Given the description of an element on the screen output the (x, y) to click on. 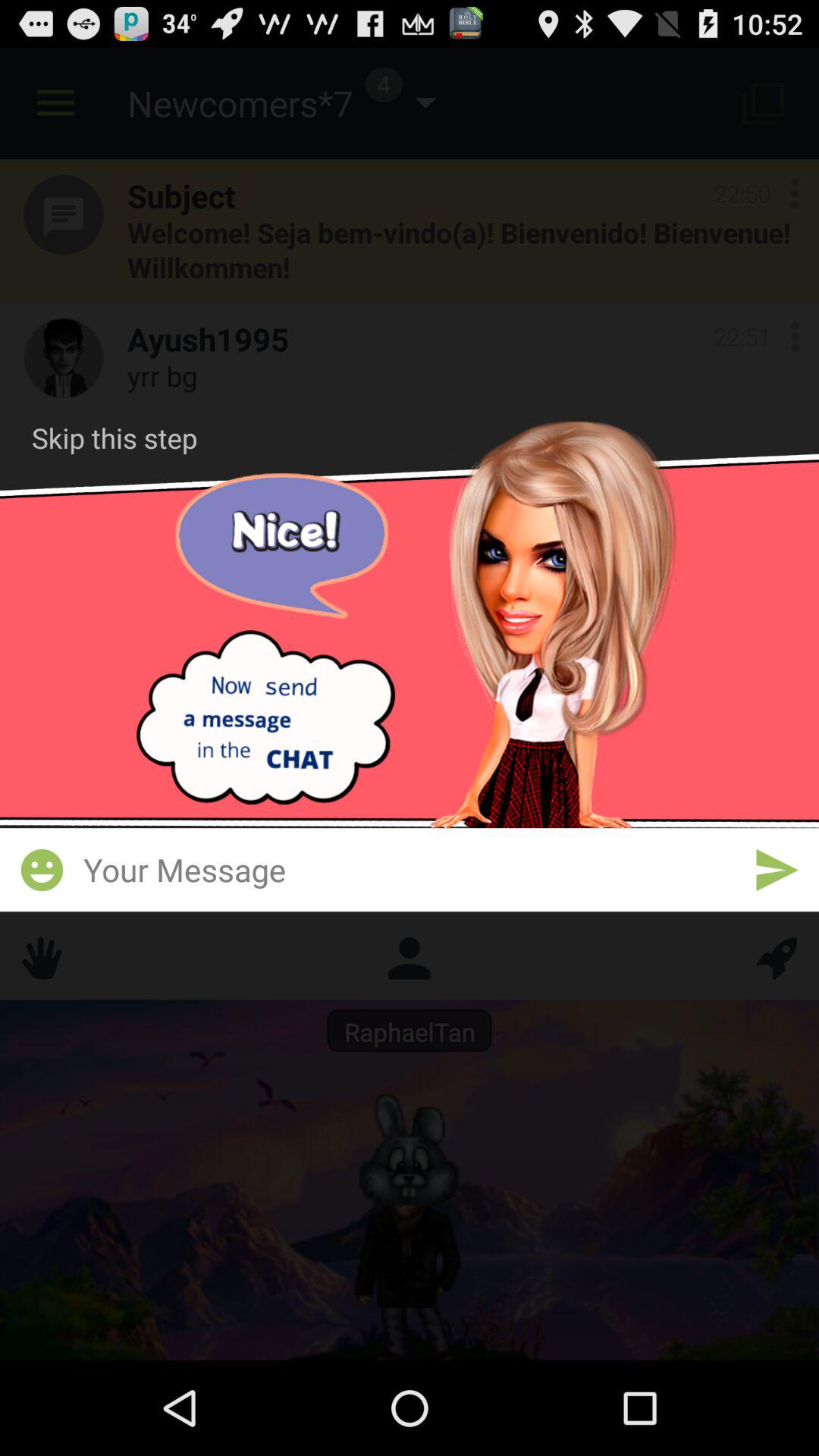
send message (777, 869)
